Given the description of an element on the screen output the (x, y) to click on. 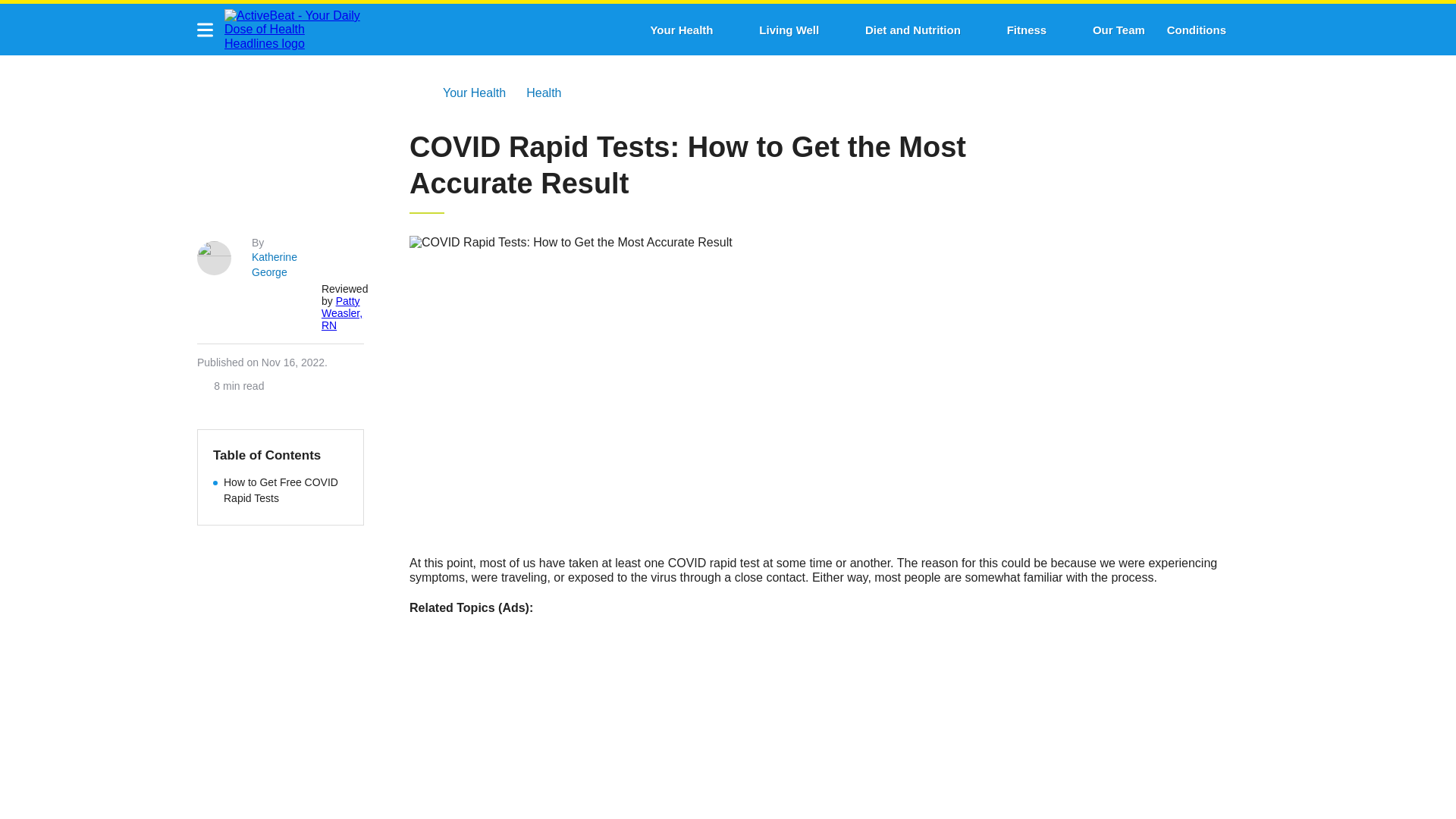
Your Health (681, 29)
